Given the description of an element on the screen output the (x, y) to click on. 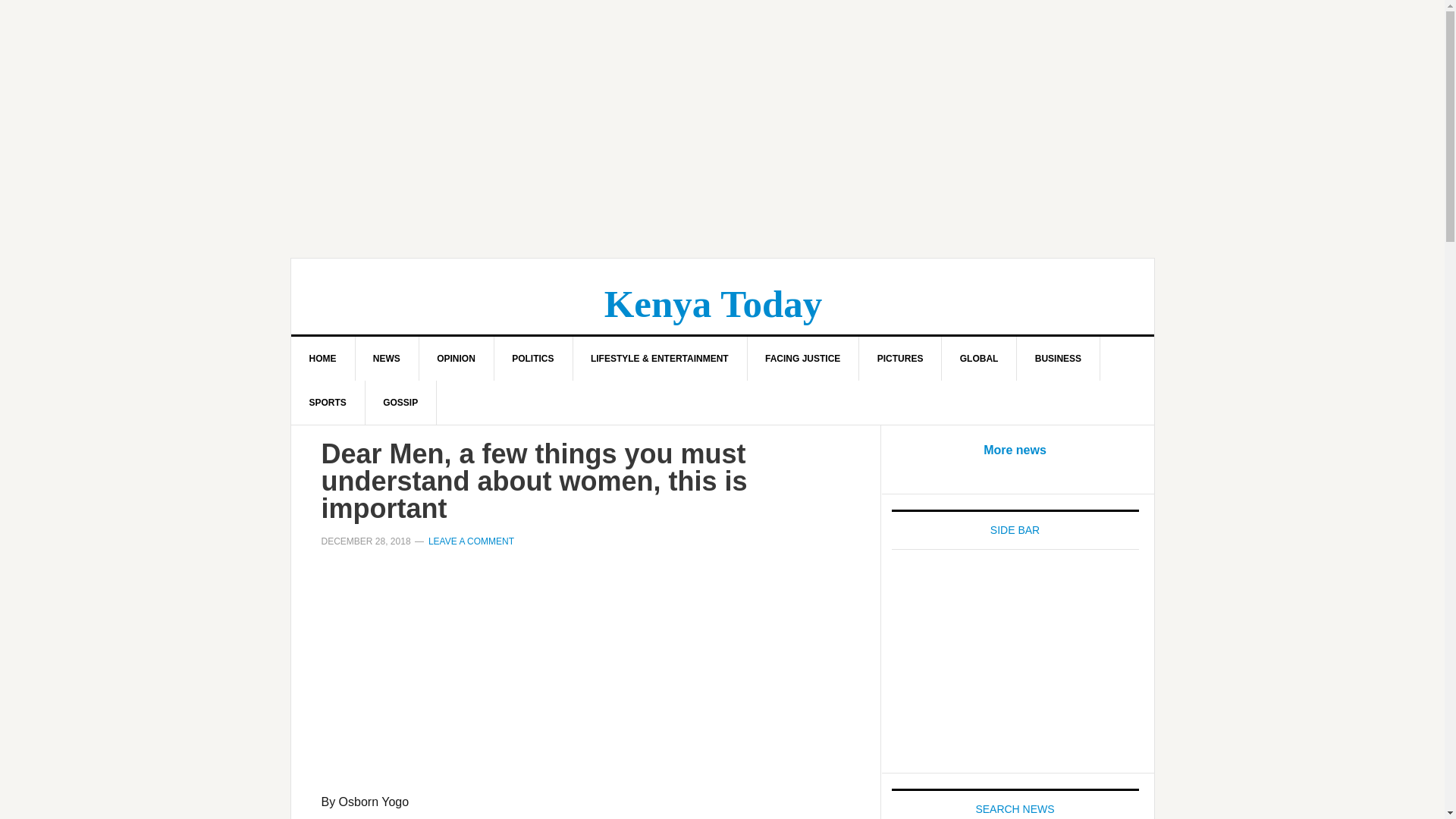
BUSINESS (1058, 358)
Advertisement (585, 679)
HOME (323, 358)
POLITICS (532, 358)
GOSSIP (400, 402)
LEAVE A COMMENT (470, 541)
Kenya Today (713, 303)
NEWS (387, 358)
GLOBAL (979, 358)
